Given the description of an element on the screen output the (x, y) to click on. 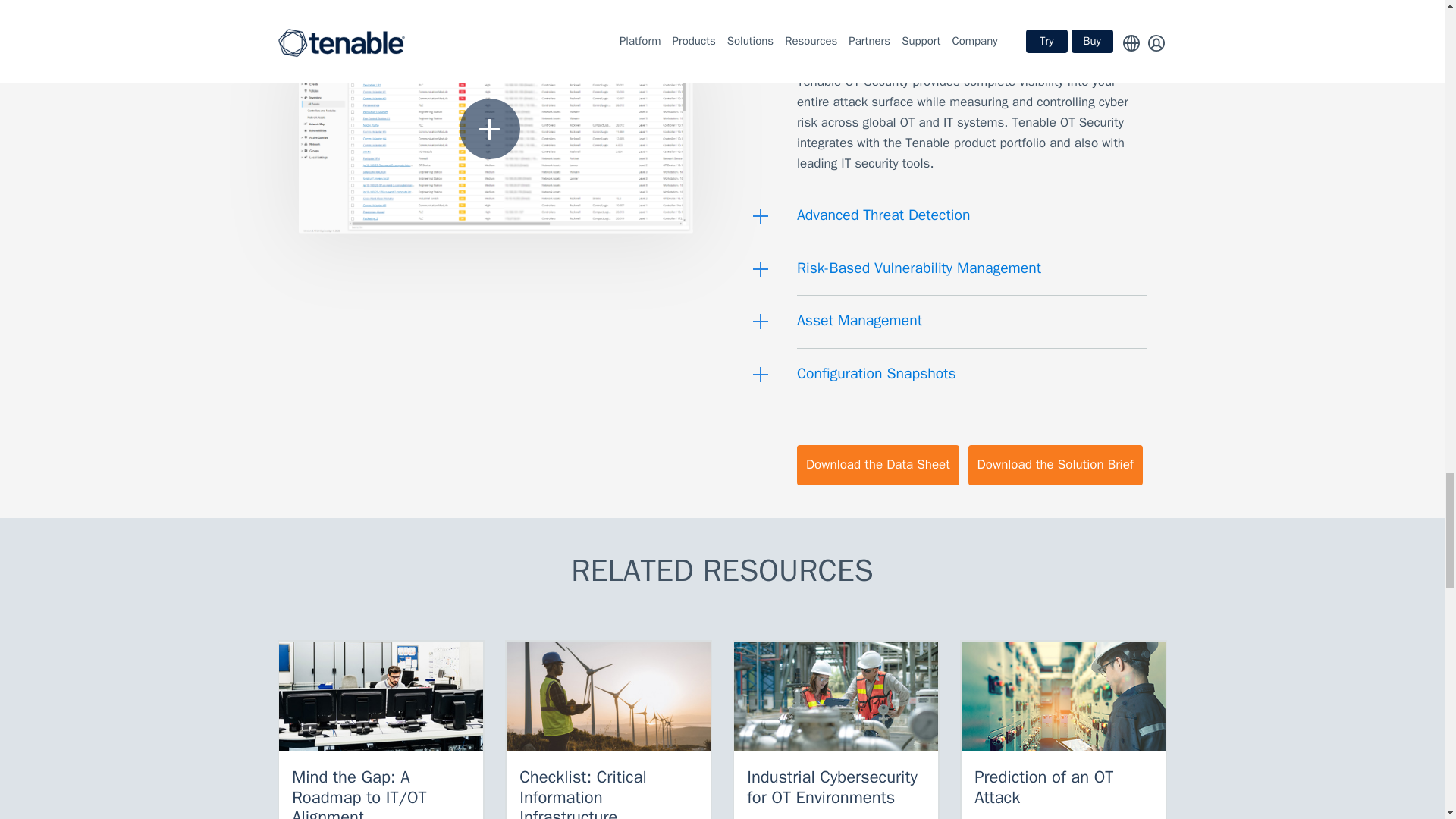
Prediction of an OT Attack (1063, 696)
Checklist: Critical Information Infrastructure (608, 696)
Industrial Cybersecurity for OT Environments (835, 696)
